Given the description of an element on the screen output the (x, y) to click on. 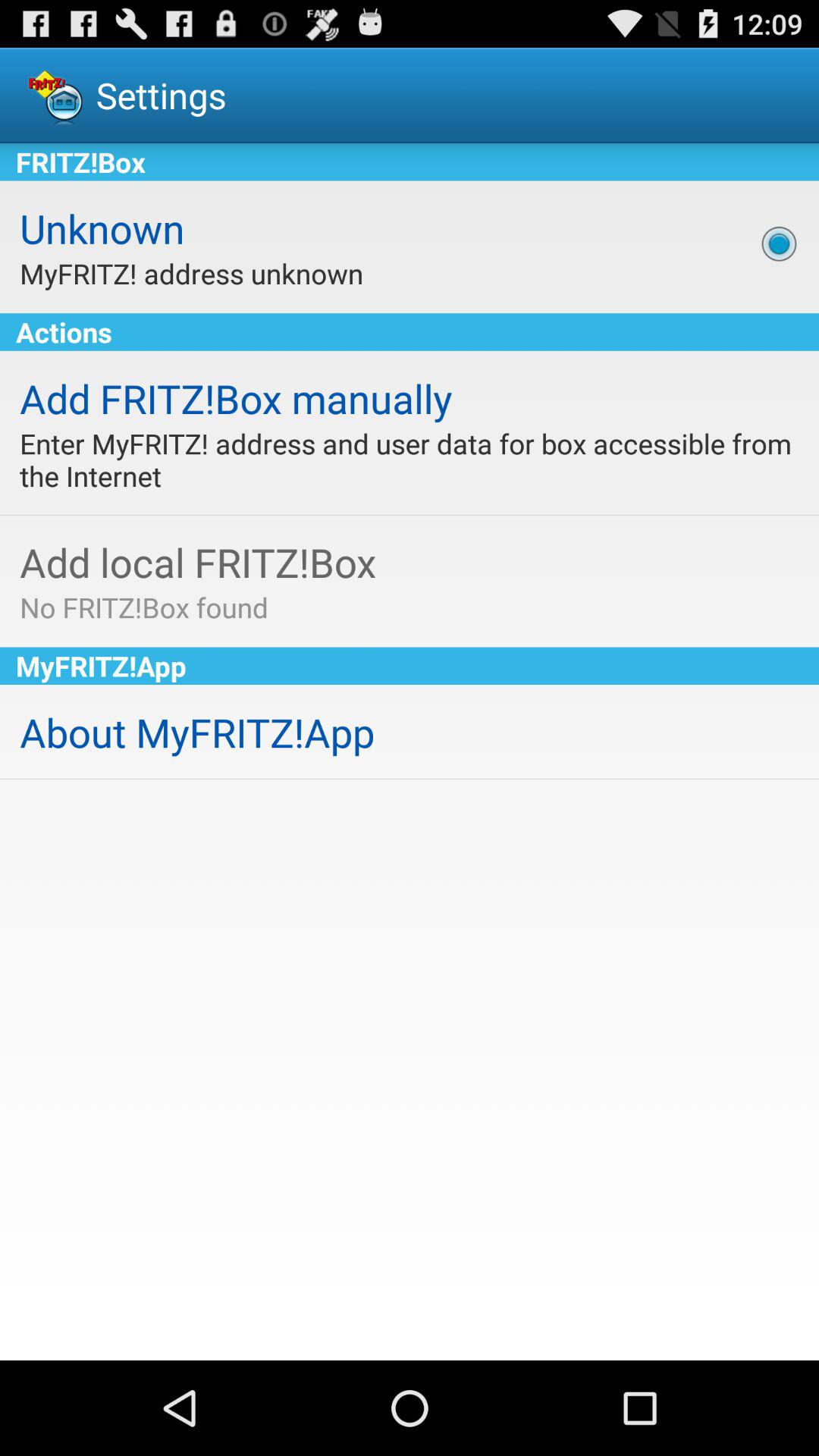
select the app above actions app (779, 243)
